Given the description of an element on the screen output the (x, y) to click on. 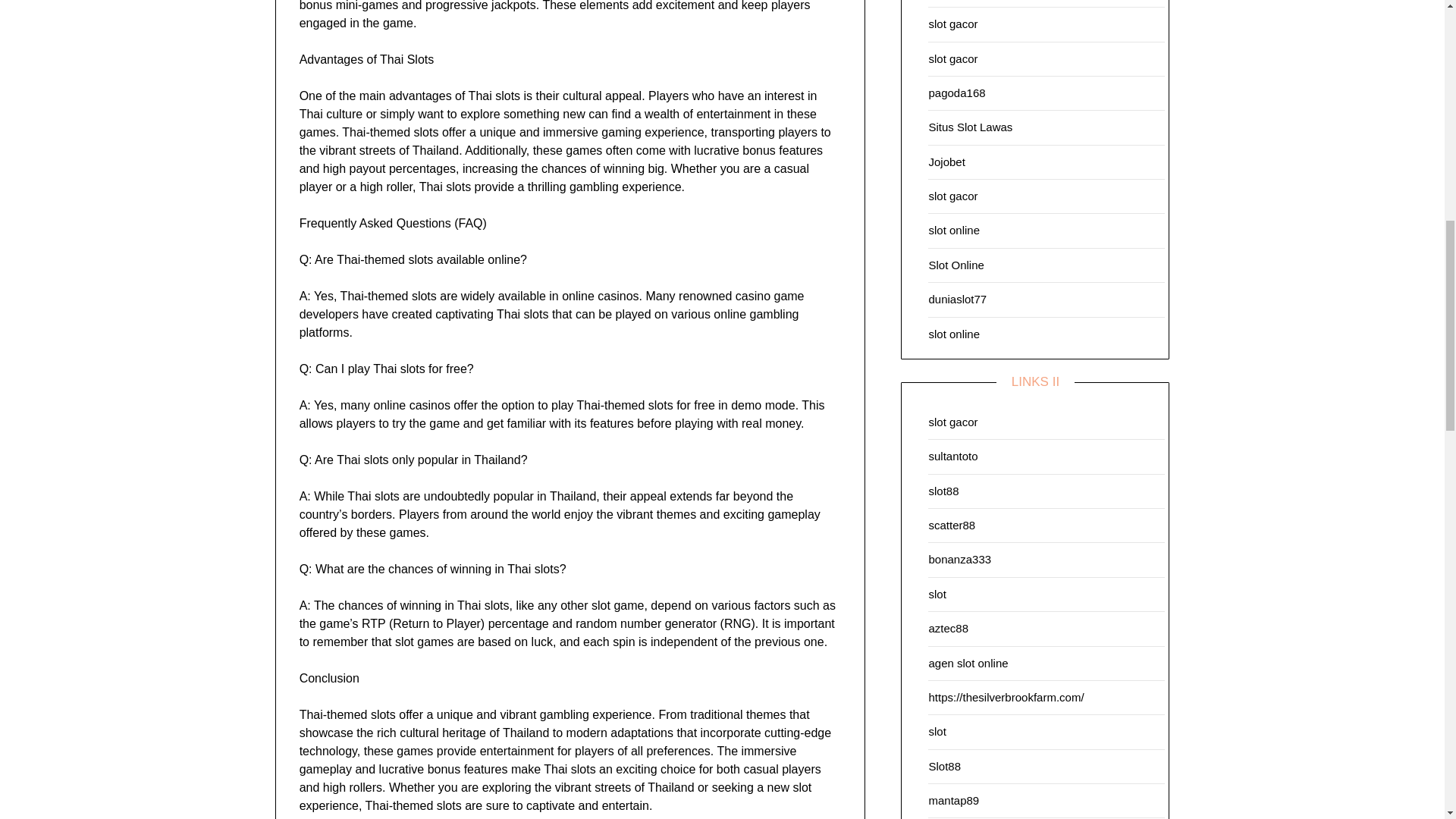
slot gacor (952, 195)
duniaslot77 (957, 298)
slot gacor (952, 23)
slot online (953, 229)
slot gacor (952, 57)
Slot Online (956, 264)
pagoda168 (956, 92)
Jojobet (945, 161)
Situs Slot Lawas (969, 126)
